Given the description of an element on the screen output the (x, y) to click on. 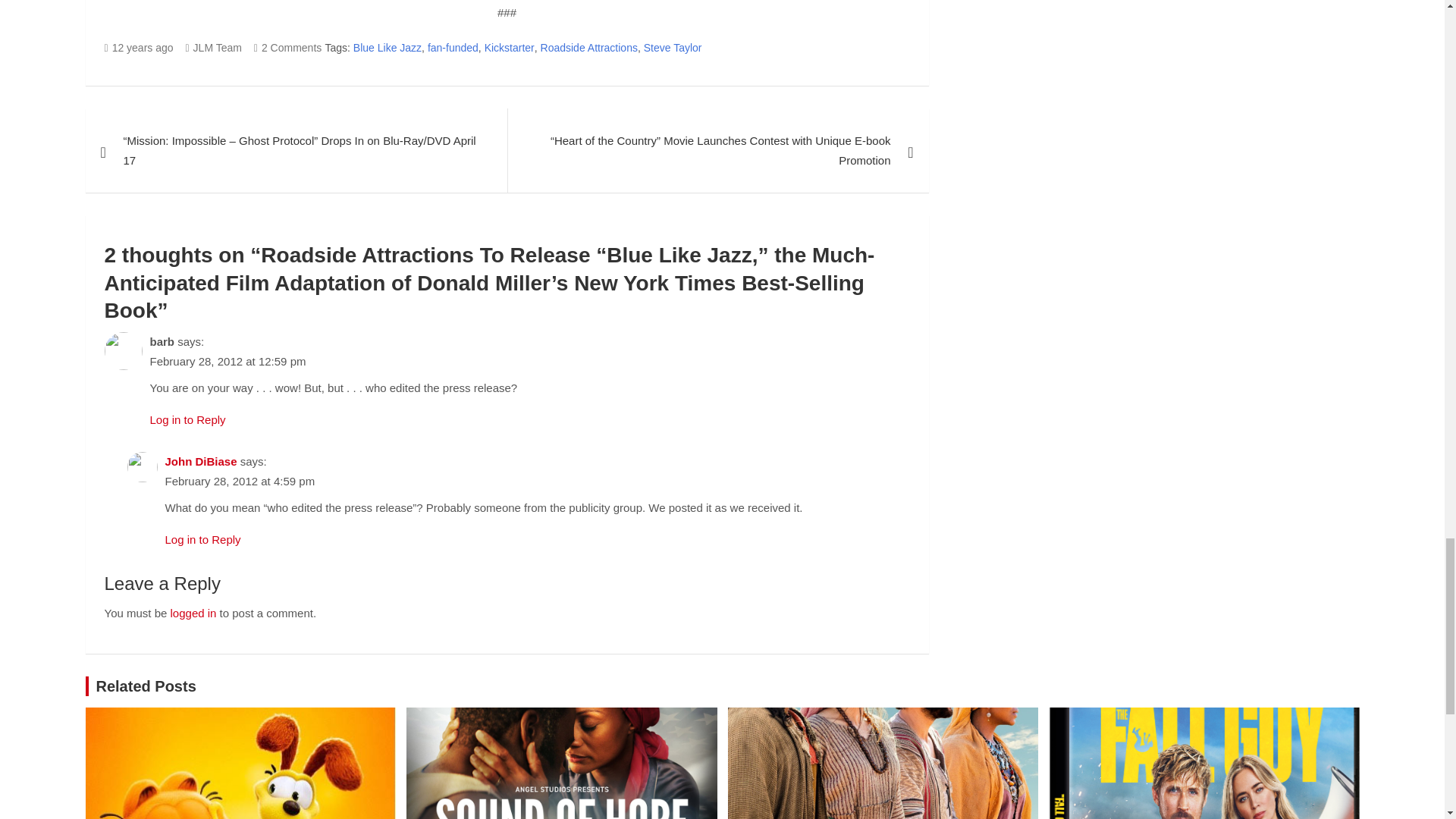
12 years ago (138, 47)
2 Comments (287, 47)
Roadside Attractions (588, 48)
Steve Taylor (672, 48)
Kickstarter (509, 48)
logged in (193, 612)
JLM Team (212, 47)
12 years ago (138, 47)
fan-funded (453, 48)
John DiBiase (201, 461)
Log in to Reply (187, 419)
Blue Like Jazz (387, 48)
February 28, 2012 at 12:59 pm (227, 360)
February 28, 2012 at 4:59 pm (240, 481)
Log in to Reply (203, 539)
